Given the description of an element on the screen output the (x, y) to click on. 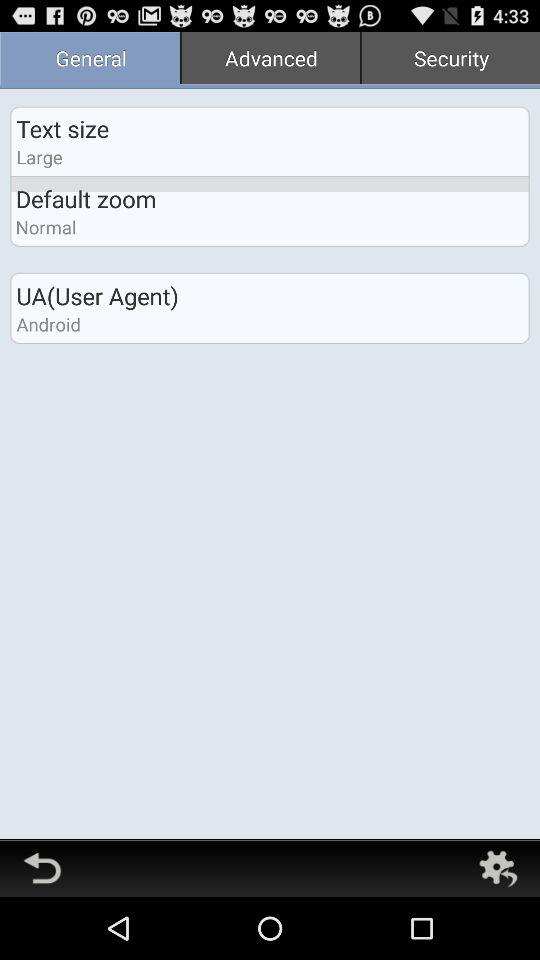
settings screen (498, 868)
